Given the description of an element on the screen output the (x, y) to click on. 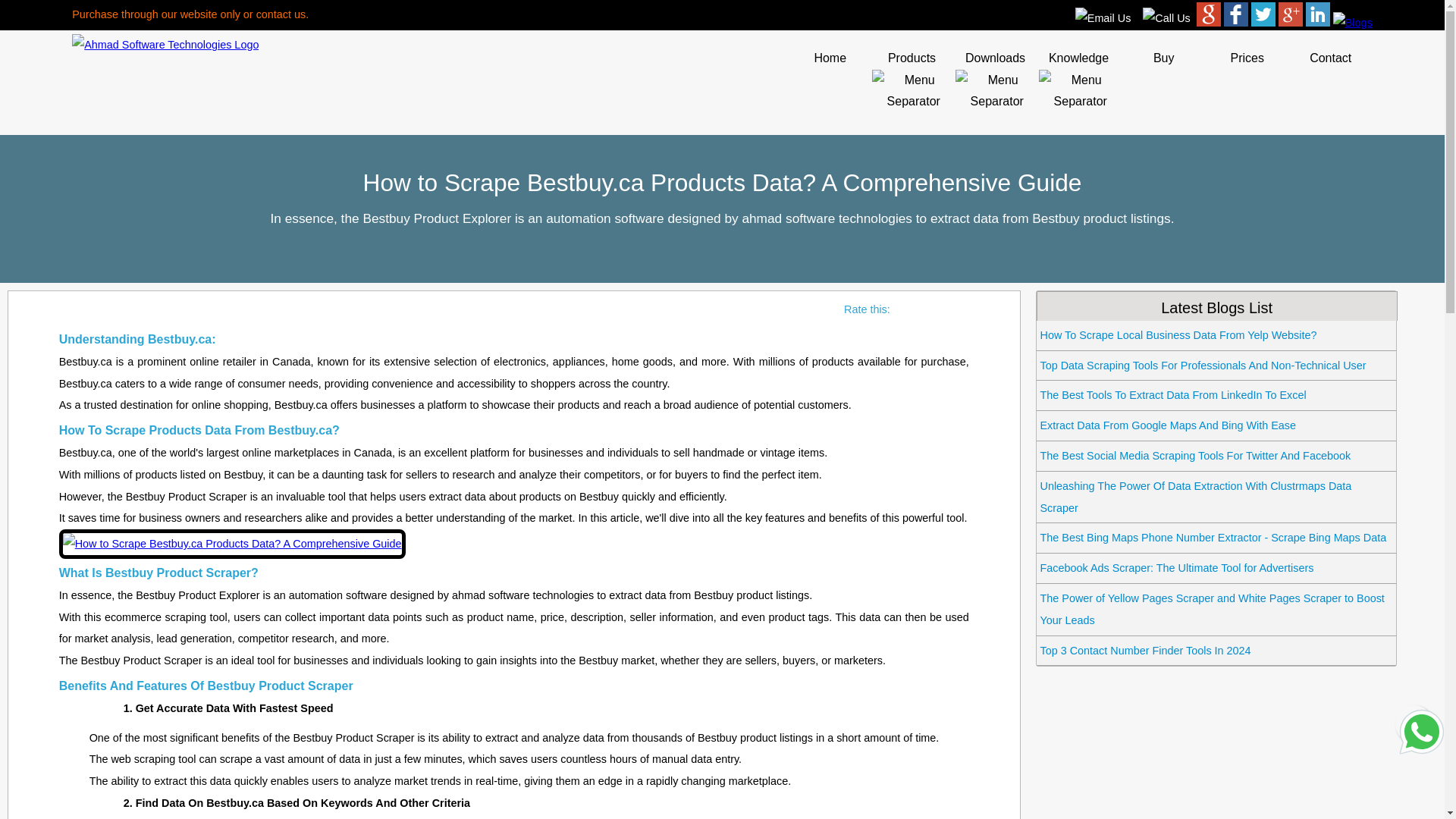
Downloads  (997, 91)
Products  (913, 91)
Email Us (1103, 18)
Call Us (1165, 18)
Share on Facebook (1235, 14)
Home (830, 58)
Search Website (1208, 14)
Share on Twitter (1262, 14)
